Given the description of an element on the screen output the (x, y) to click on. 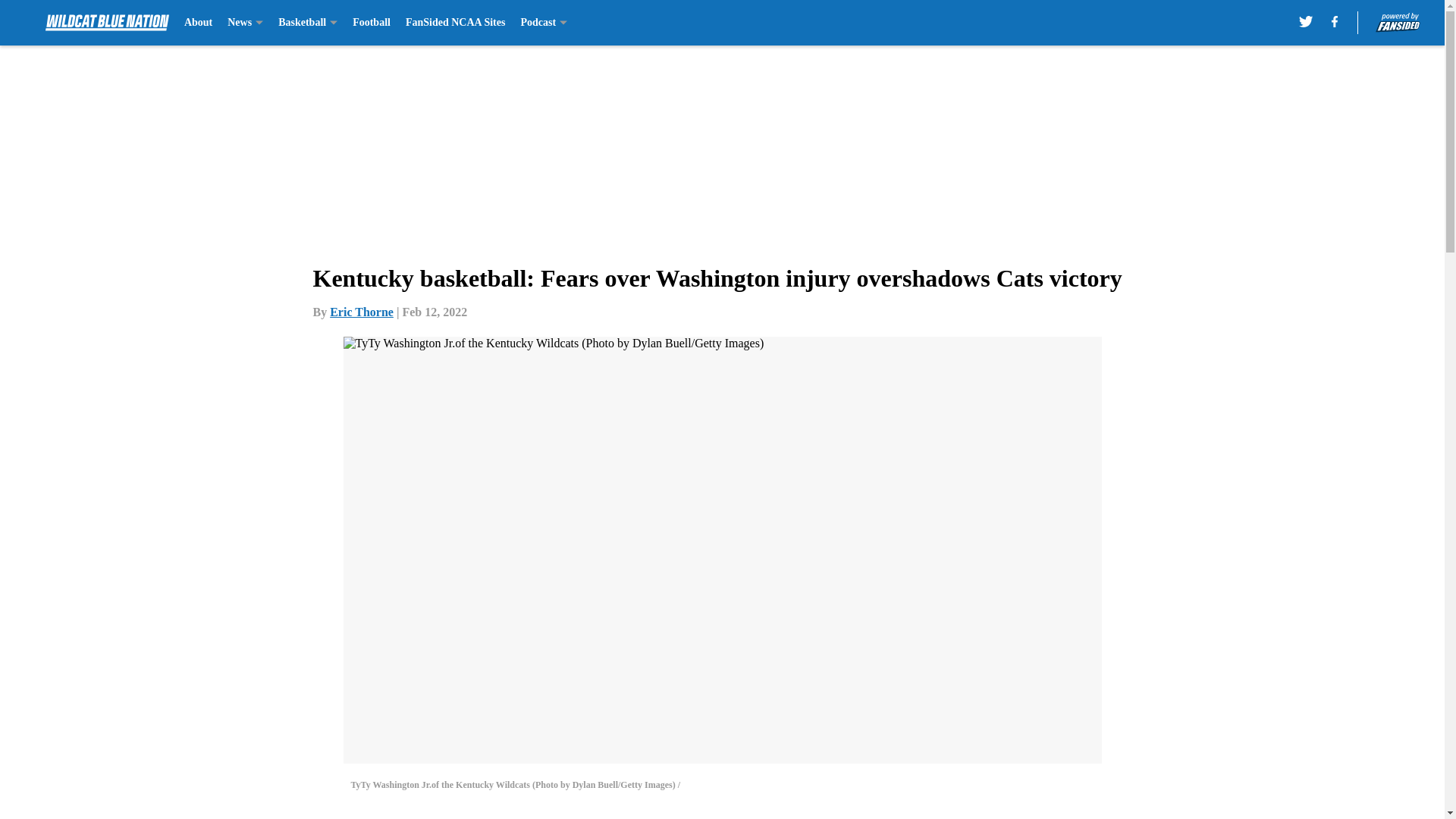
Eric Thorne (361, 311)
FanSided NCAA Sites (455, 22)
Football (371, 22)
About (198, 22)
